Given the description of an element on the screen output the (x, y) to click on. 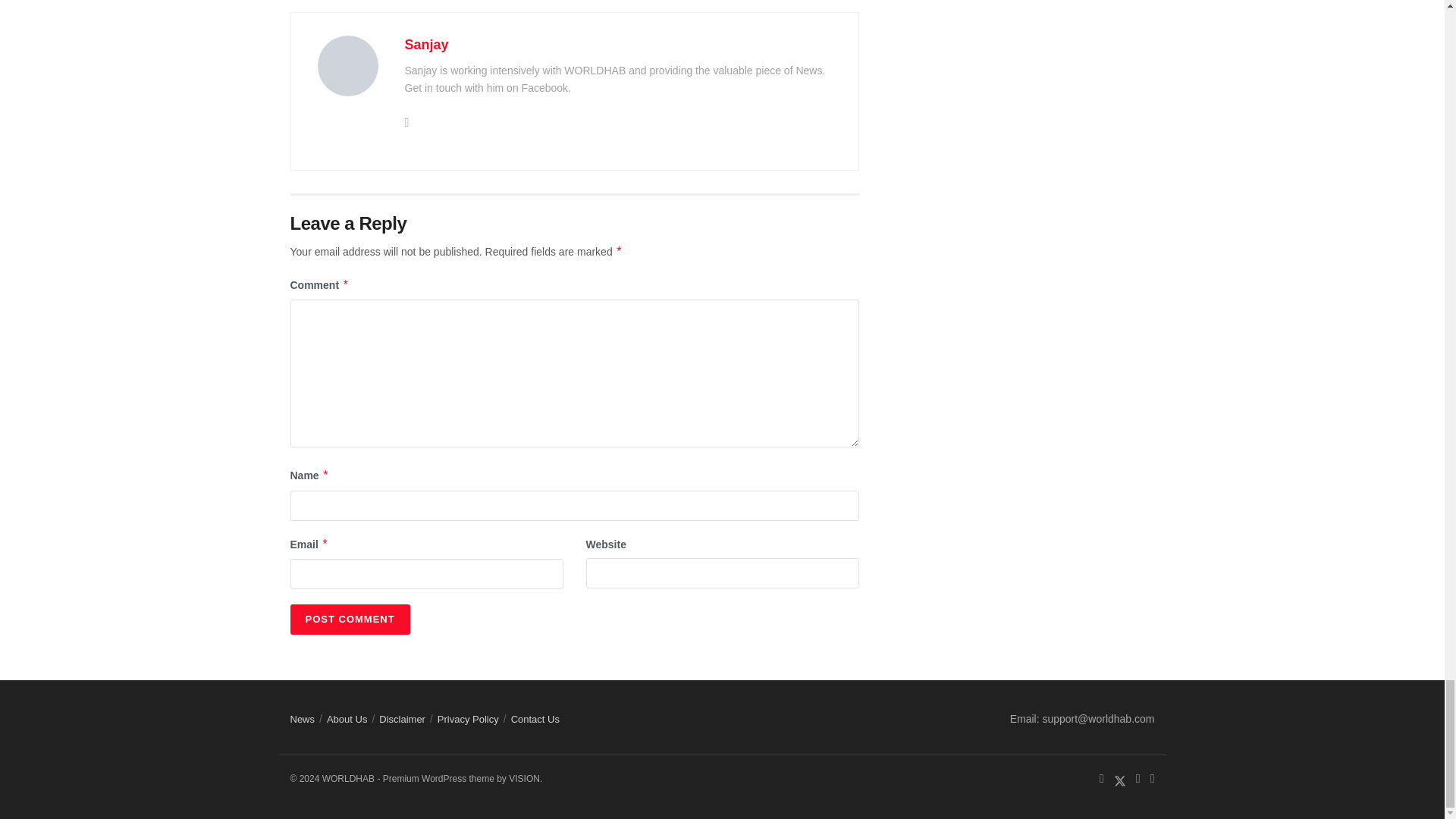
Post Comment (349, 619)
